Given the description of an element on the screen output the (x, y) to click on. 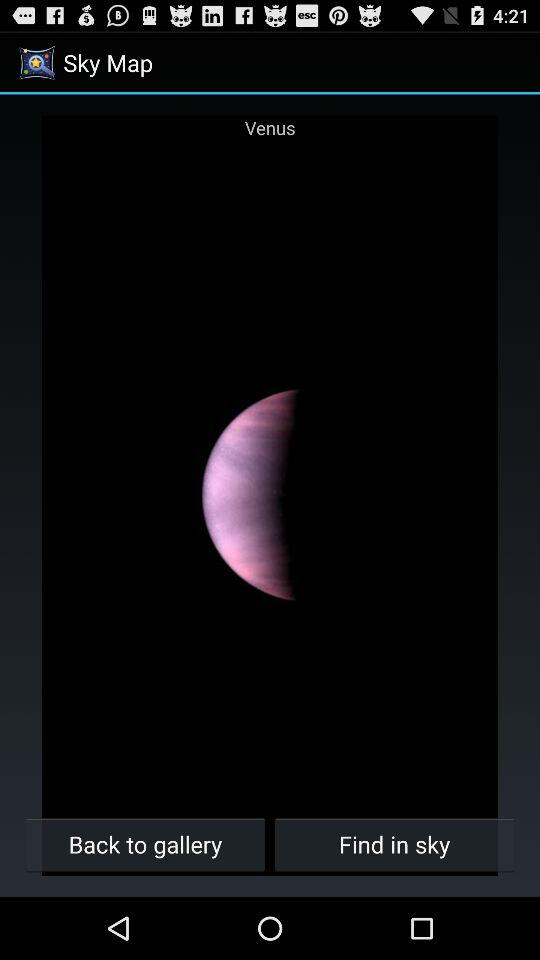
turn on the icon below venus item (394, 844)
